Given the description of an element on the screen output the (x, y) to click on. 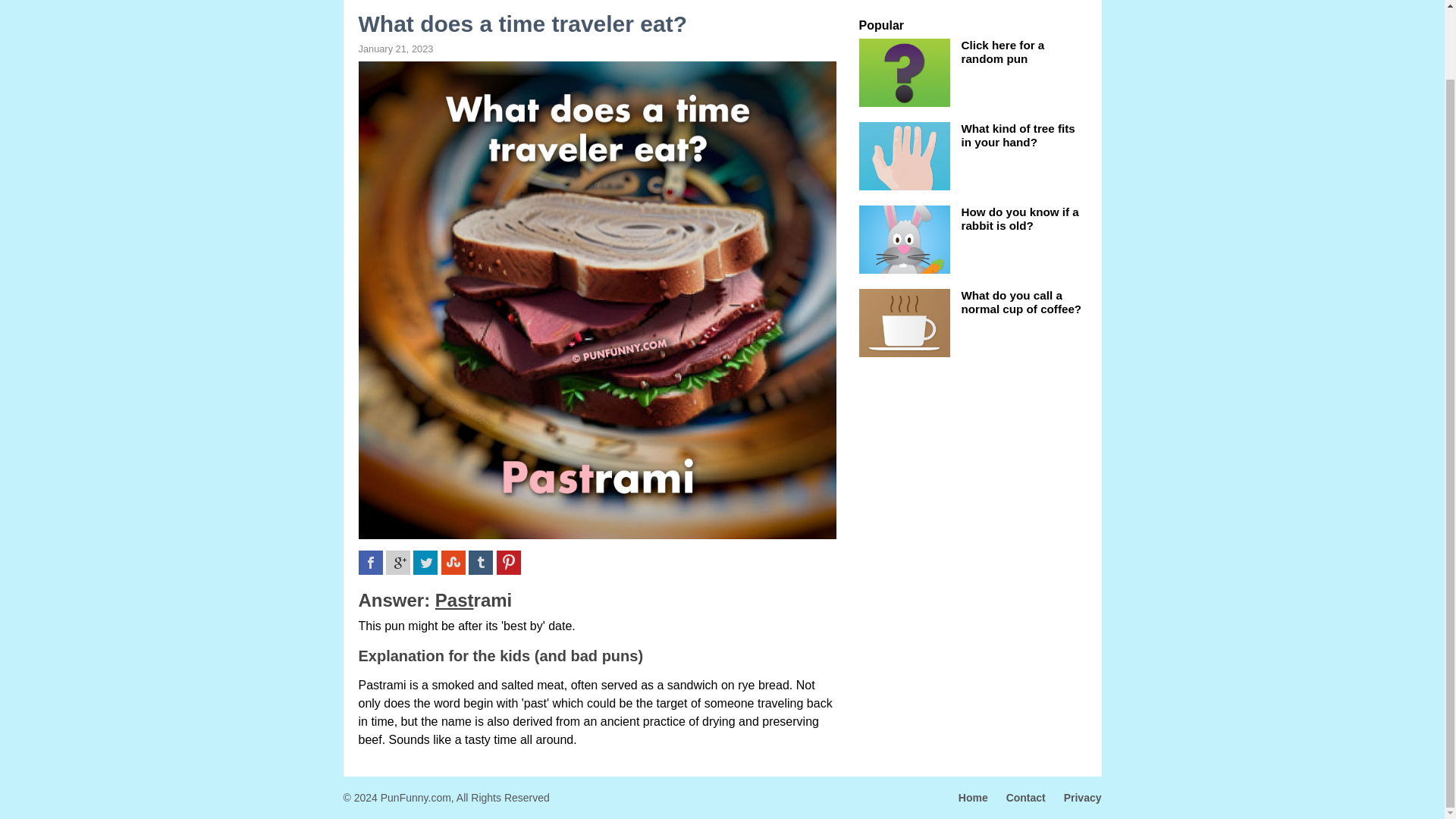
Share this page on Twitter (425, 562)
How do you know if a rabbit is old? (1019, 218)
Click here for a random pun (1002, 51)
What does a time traveler eat? (596, 32)
Share this page on Facebook (369, 562)
Contact (1018, 797)
Share this page on Tumblr (480, 562)
Privacy (1075, 797)
Share this page on StumbleUpon (453, 562)
What kind of tree fits in your hand? (1017, 135)
